Given the description of an element on the screen output the (x, y) to click on. 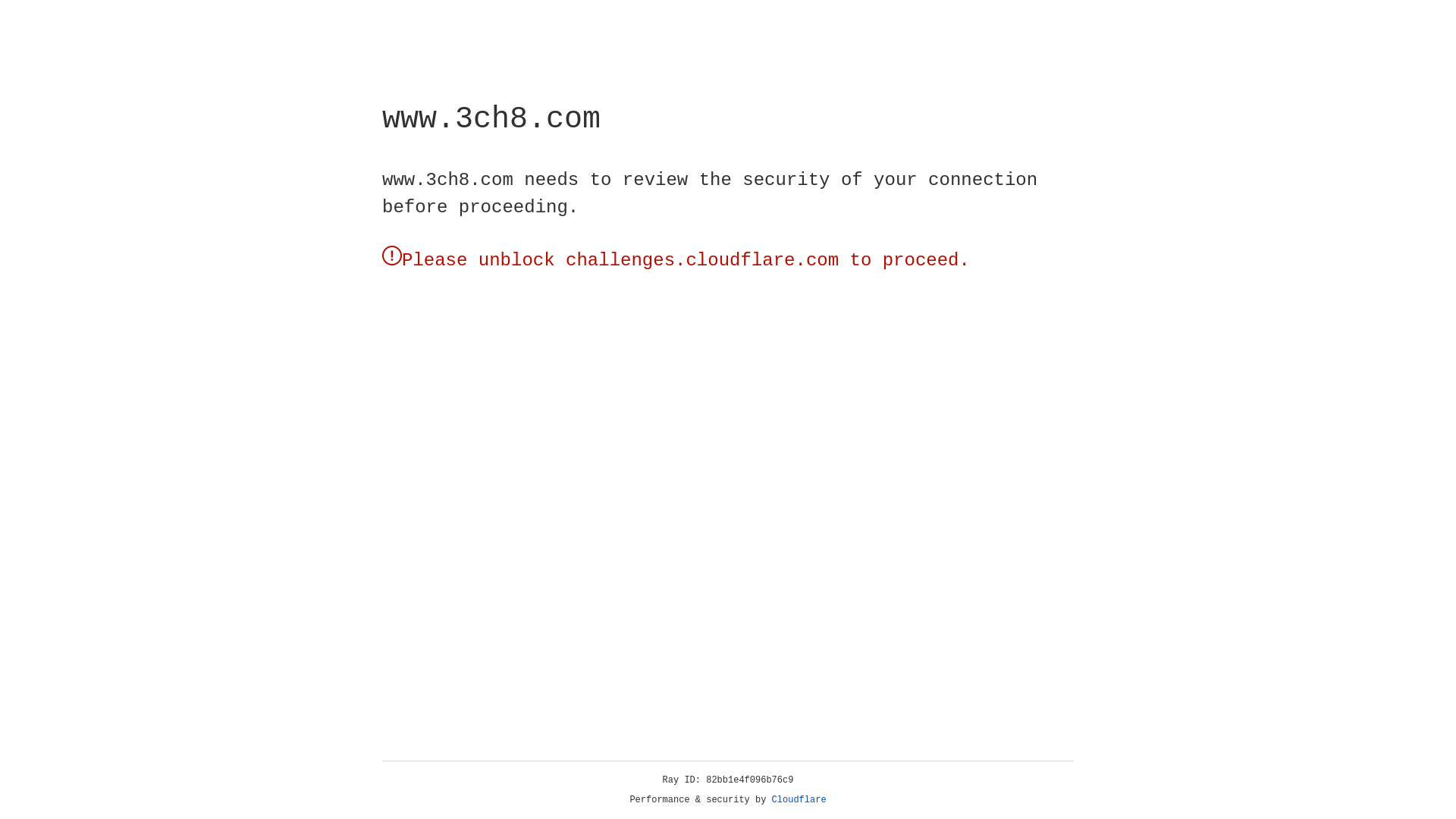
Cloudflare Element type: text (798, 799)
